Given the description of an element on the screen output the (x, y) to click on. 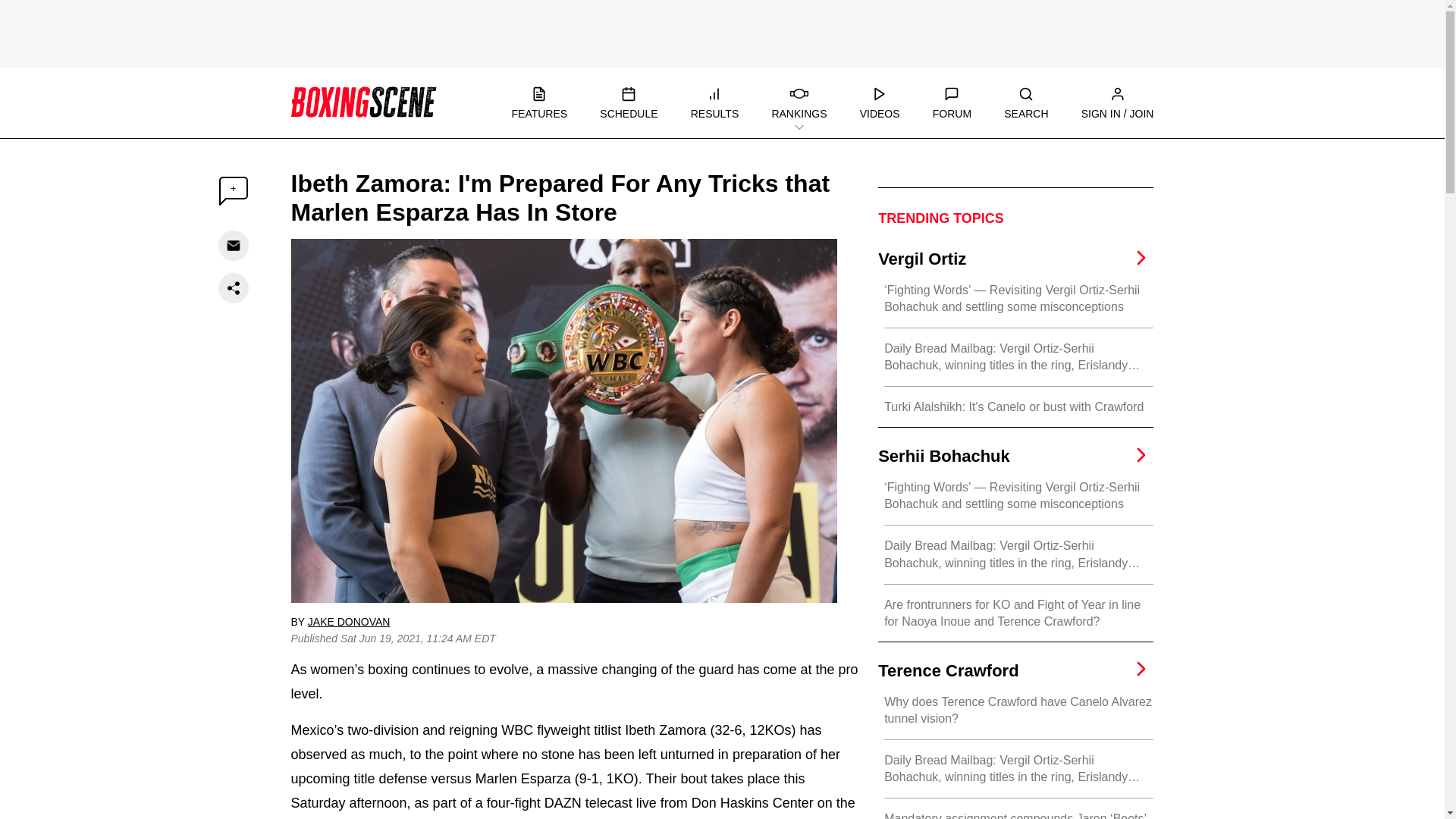
RESULTS (714, 102)
RANKINGS (799, 102)
JAKE DONOVAN (348, 621)
FORUM (952, 102)
SEARCH (1026, 102)
FEATURES (539, 102)
VIDEOS (879, 102)
SCHEDULE (628, 102)
